Given the description of an element on the screen output the (x, y) to click on. 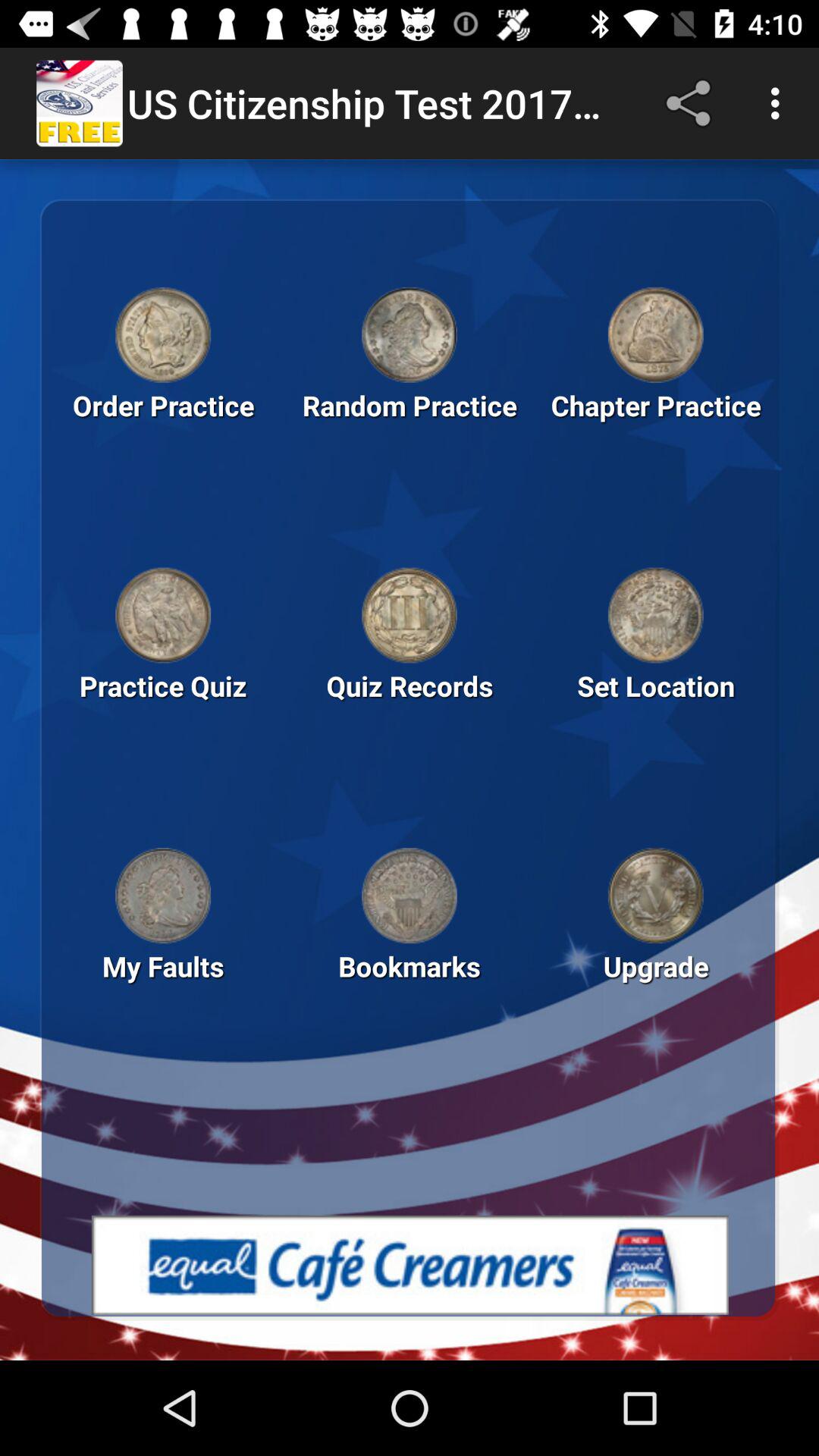
select bookmarks (409, 895)
